Given the description of an element on the screen output the (x, y) to click on. 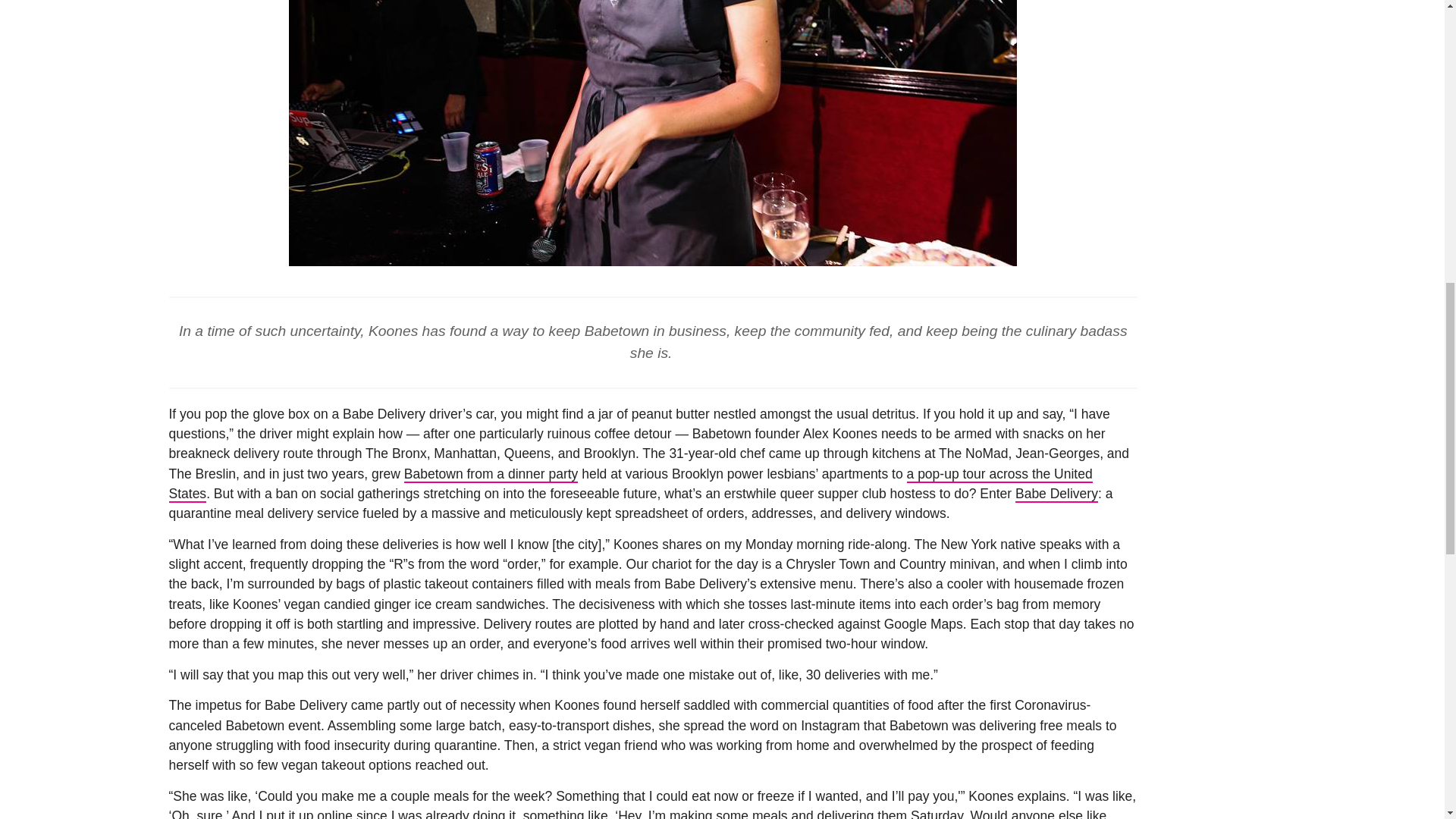
a pop-up tour across the United States (630, 484)
Babetown from a dinner party (491, 474)
Babe Delivery (1055, 494)
